Given the description of an element on the screen output the (x, y) to click on. 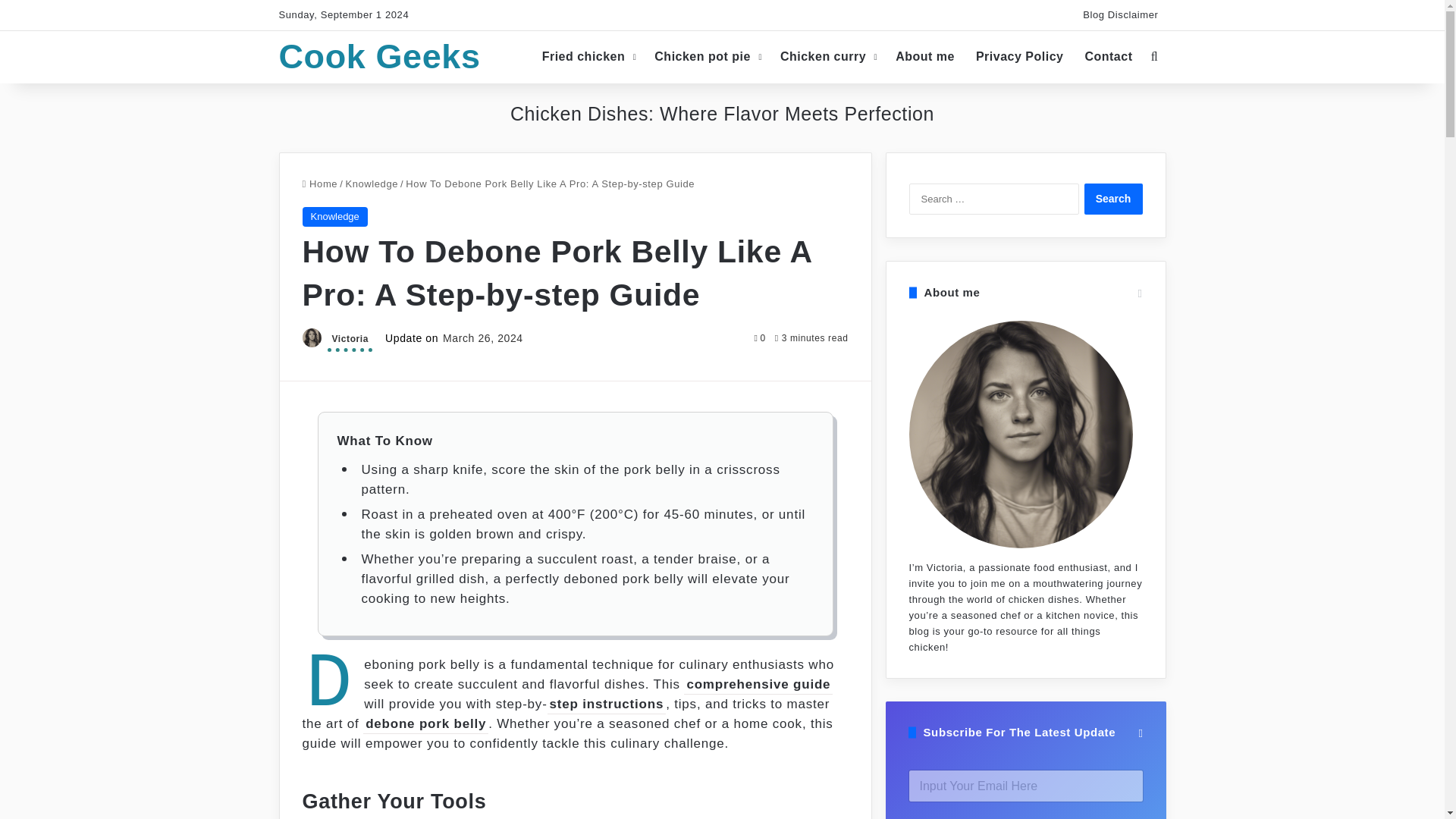
About me (925, 56)
Home (319, 183)
Contact (1108, 56)
Search (1113, 198)
Victoria (349, 341)
Blog Disclaimer (1120, 15)
Privacy Policy (1019, 56)
Cook Geeks (379, 56)
Search (1113, 198)
Chicken pot pie (706, 56)
